Given the description of an element on the screen output the (x, y) to click on. 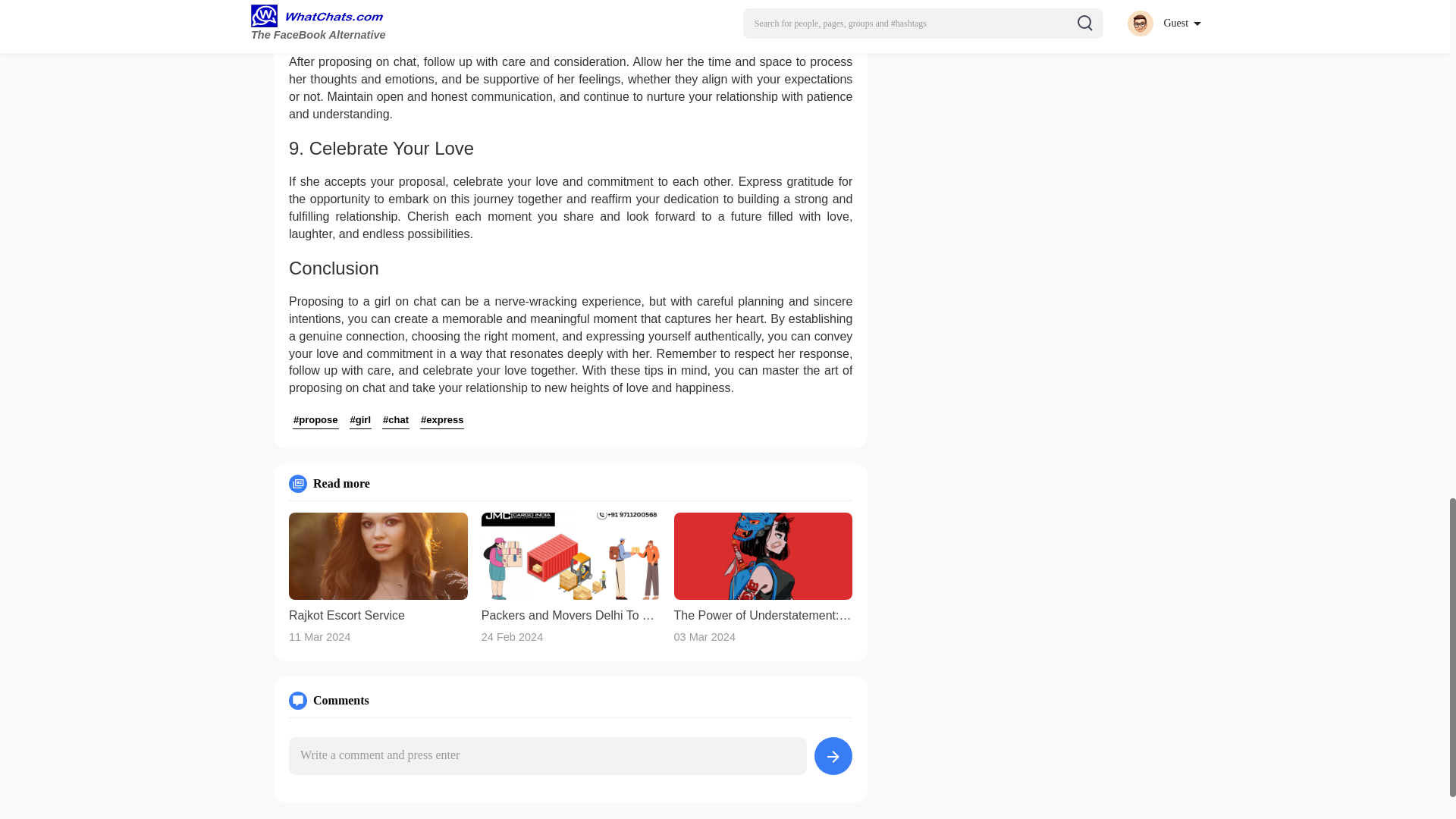
Rajkot Escort Service (377, 615)
